Given the description of an element on the screen output the (x, y) to click on. 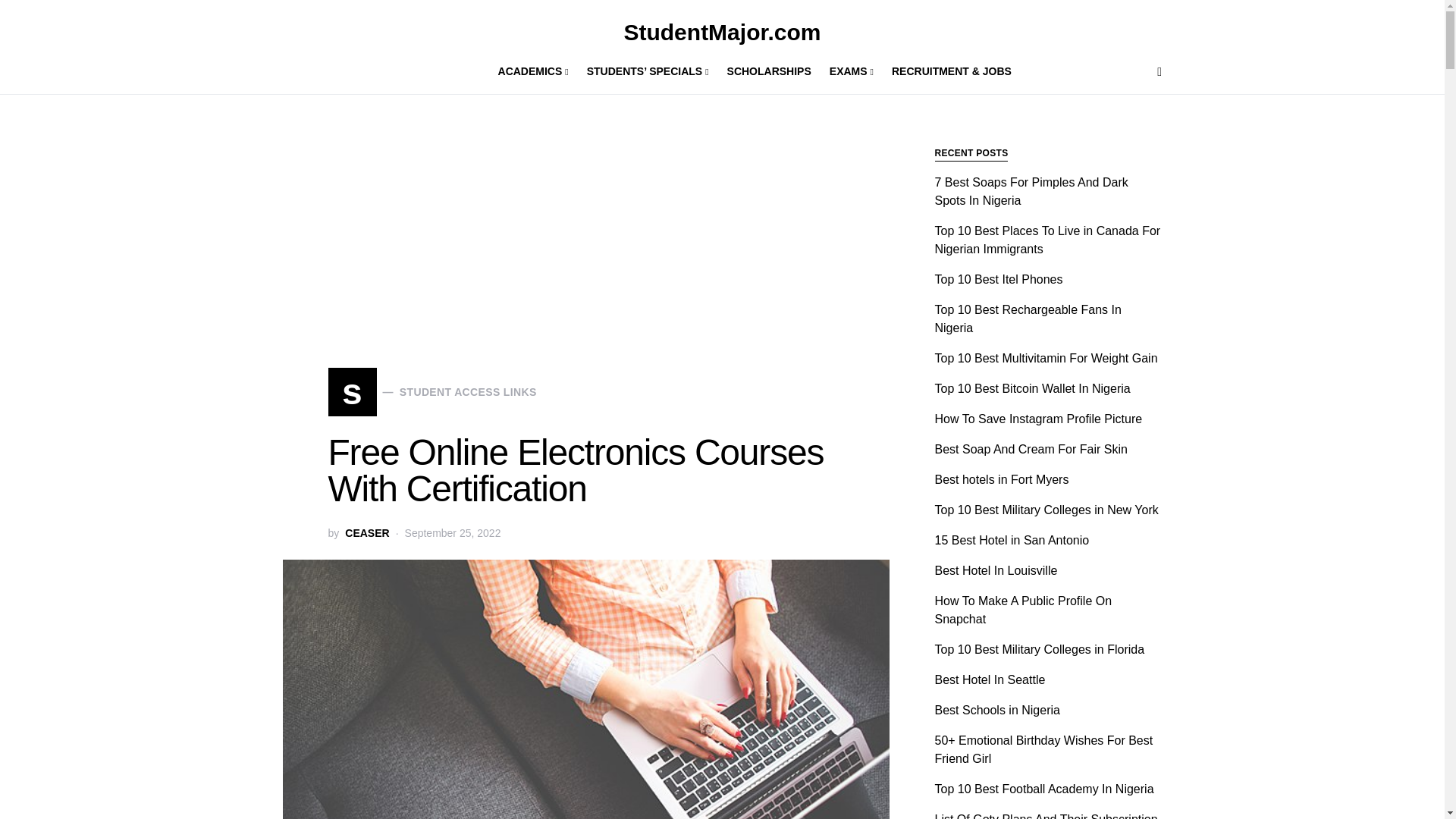
SCHOLARSHIPS (769, 71)
CEASER (366, 533)
EXAMS (851, 71)
StudentMajor.com (722, 32)
View all posts by CEASER (431, 391)
ACADEMICS (366, 533)
